Given the description of an element on the screen output the (x, y) to click on. 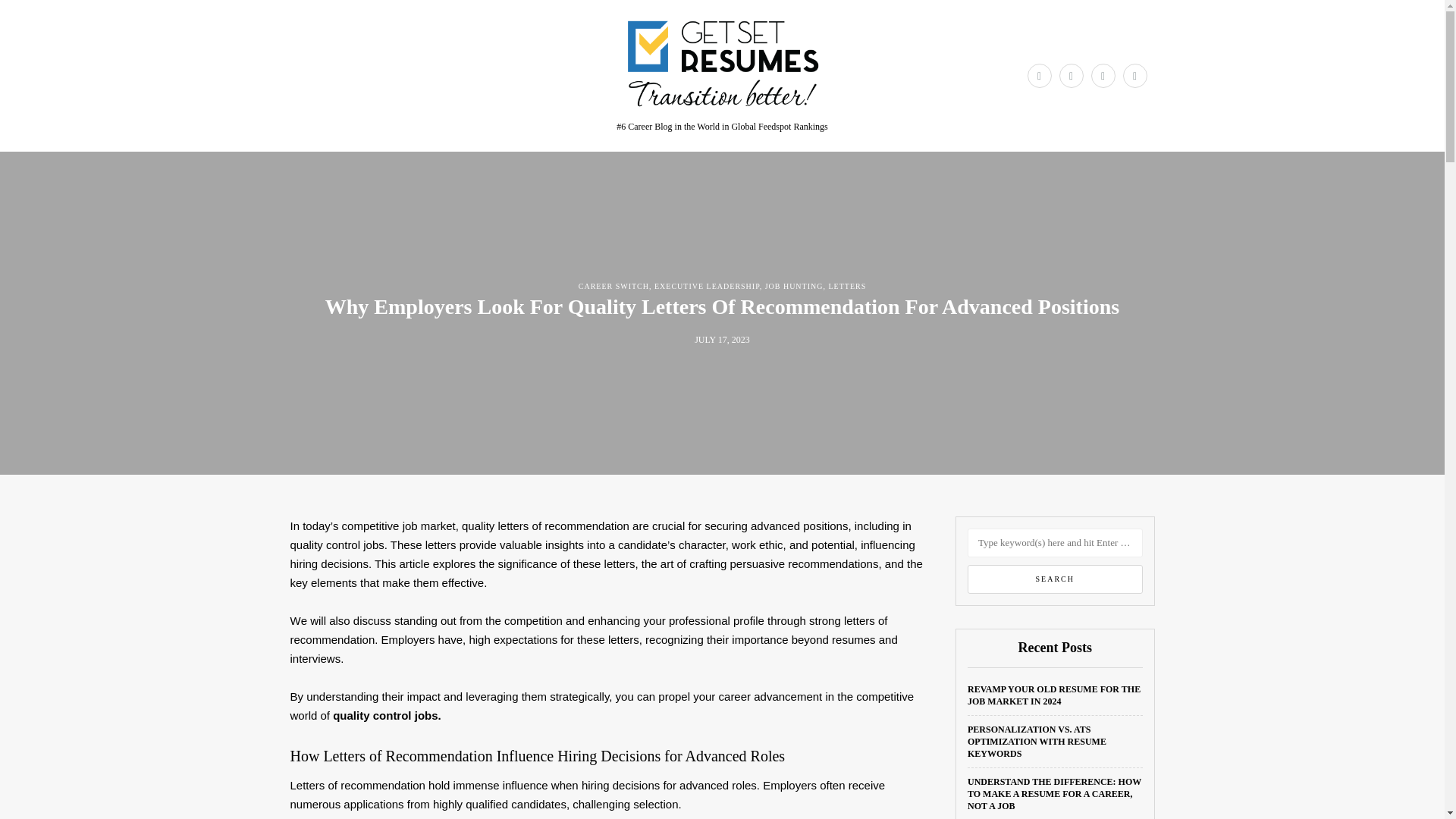
REVAMP YOUR OLD RESUME FOR THE JOB MARKET IN 2024 (1054, 694)
JOB HUNTING (794, 285)
PERSONALIZATION VS. ATS OPTIMIZATION WITH RESUME KEYWORDS (1037, 741)
Search (1055, 579)
LETTERS (847, 285)
CAREER SWITCH (613, 285)
EXECUTIVE LEADERSHIP (706, 285)
Search (1055, 579)
